Given the description of an element on the screen output the (x, y) to click on. 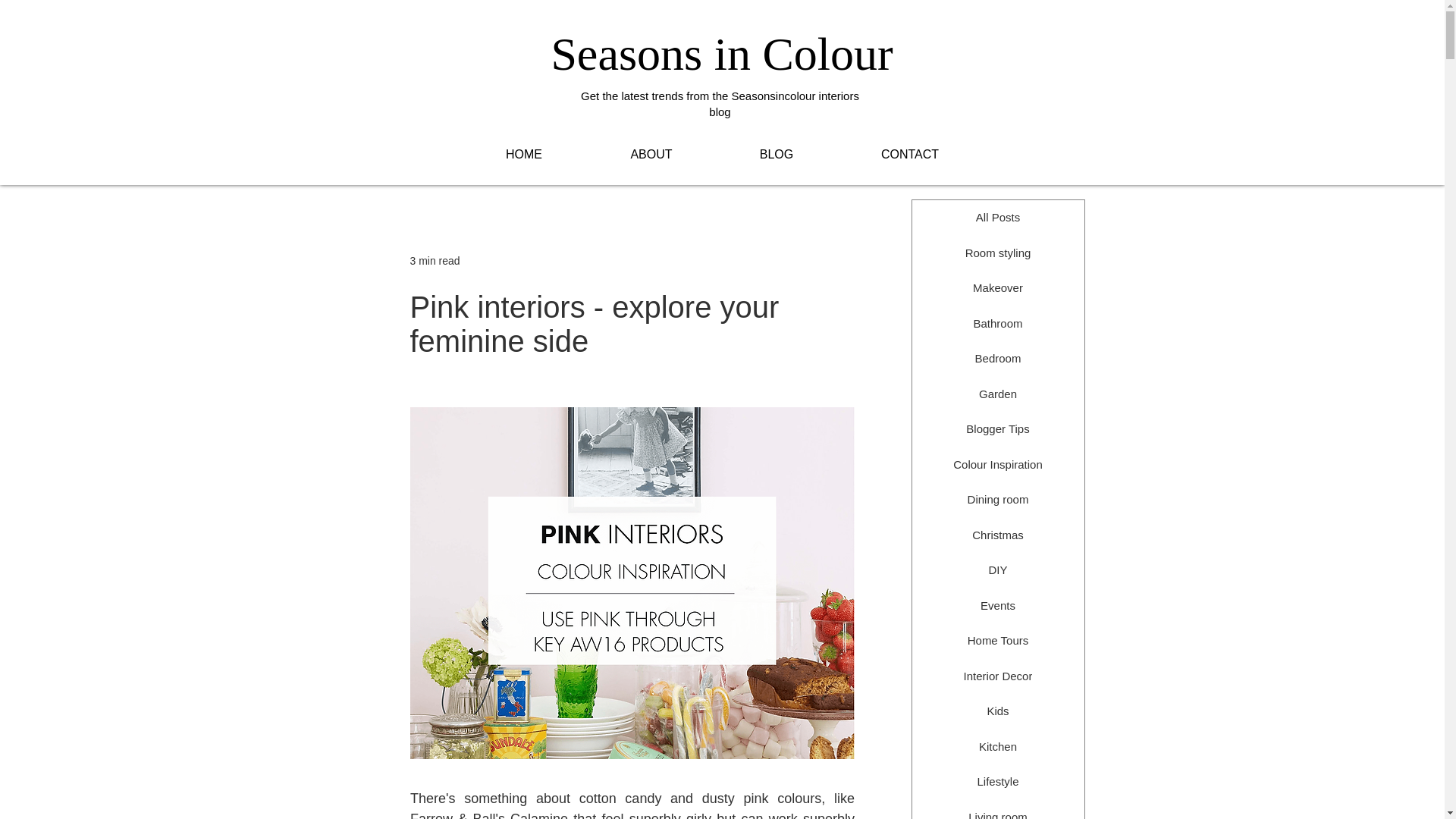
HOME (523, 153)
Garden (997, 393)
Bathroom (997, 324)
All Posts (997, 217)
Room styling (997, 253)
ABOUT (650, 153)
CONTACT (909, 153)
Seasons in Colour (721, 53)
Bedroom (997, 358)
Makeover (997, 288)
